Given the description of an element on the screen output the (x, y) to click on. 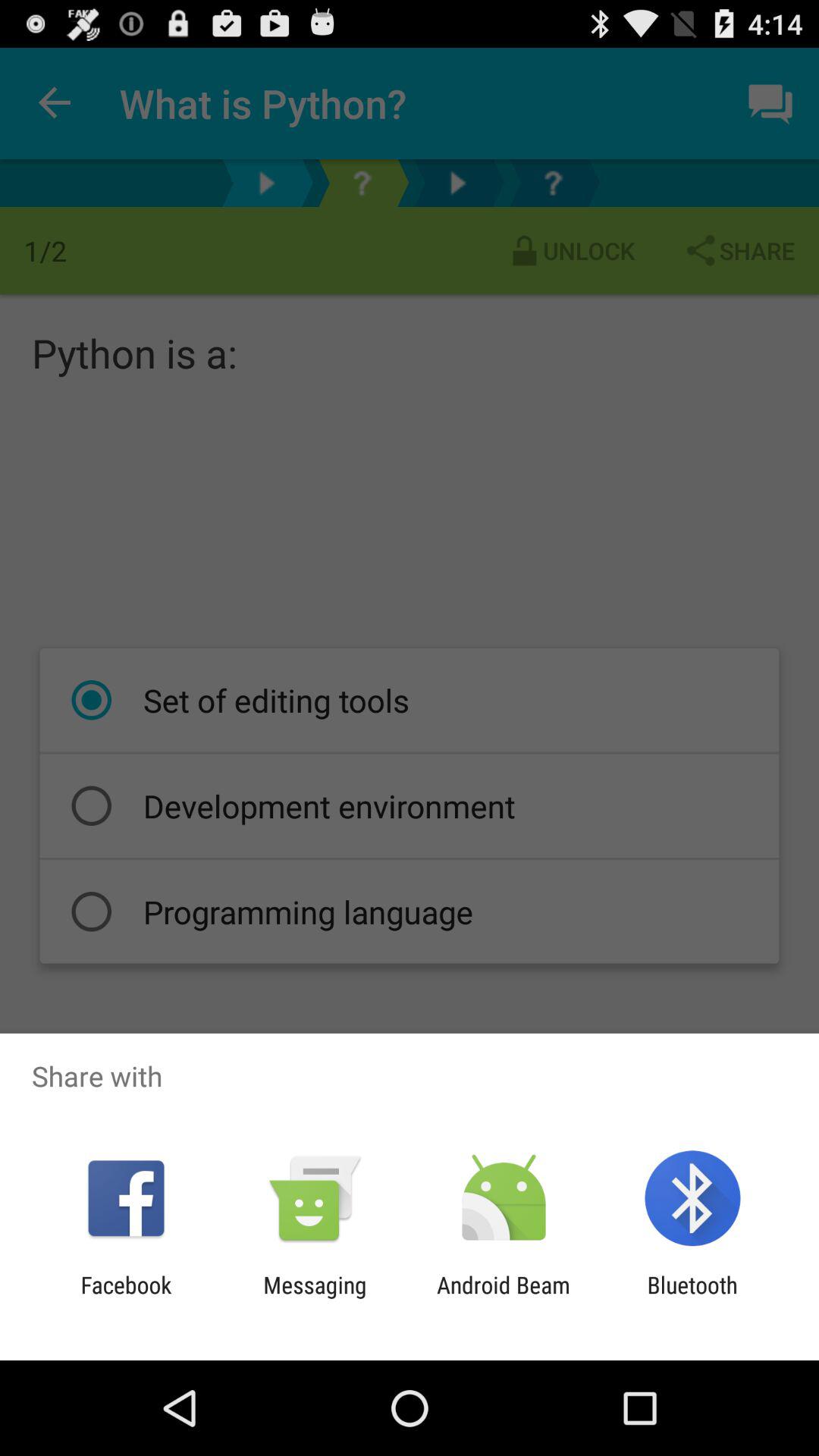
select app next to the messaging item (125, 1298)
